Given the description of an element on the screen output the (x, y) to click on. 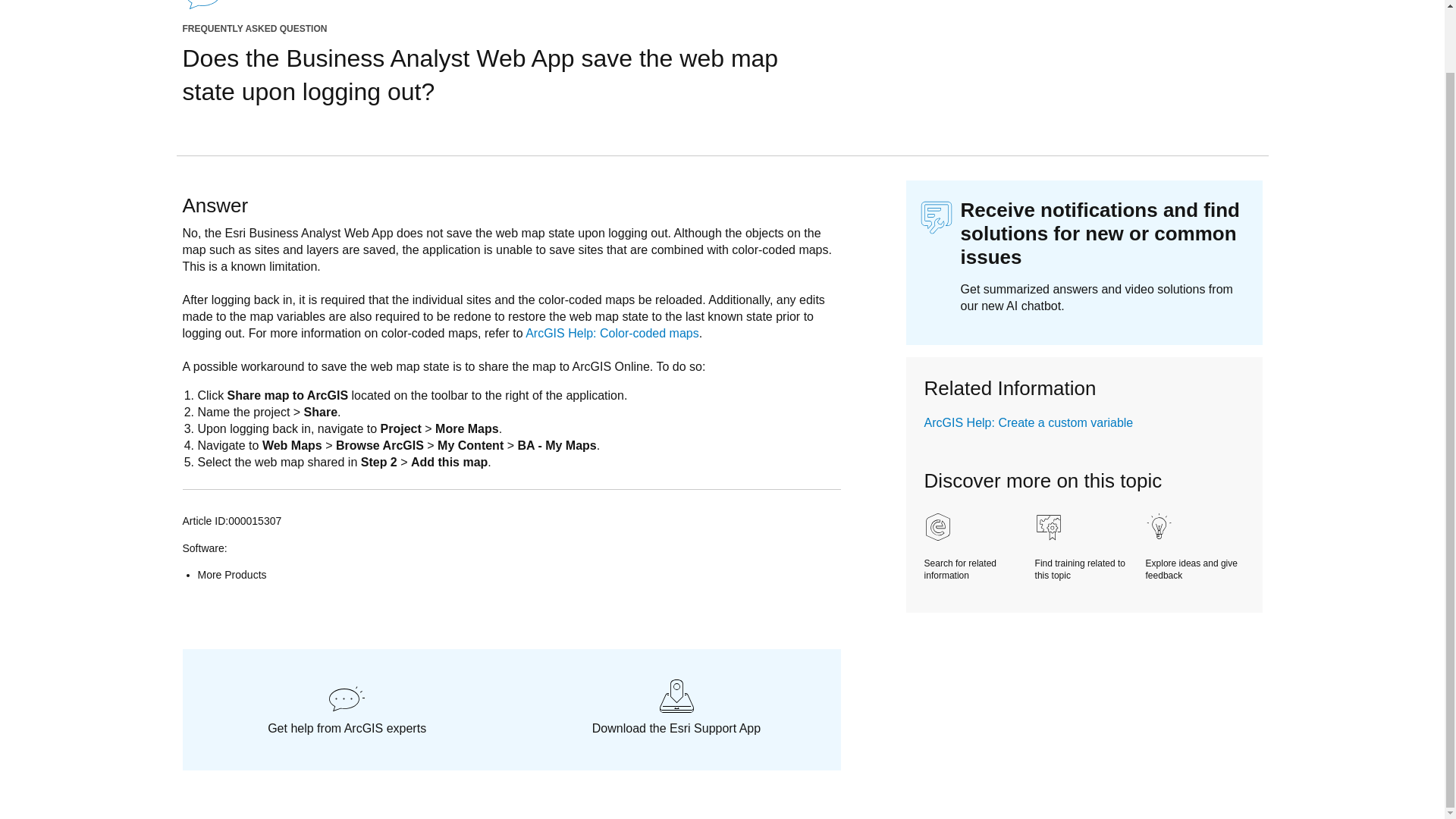
ArcGIS Help: Color-coded maps (611, 332)
ArcGIS Help: Create a custom variable (1029, 422)
